Given the description of an element on the screen output the (x, y) to click on. 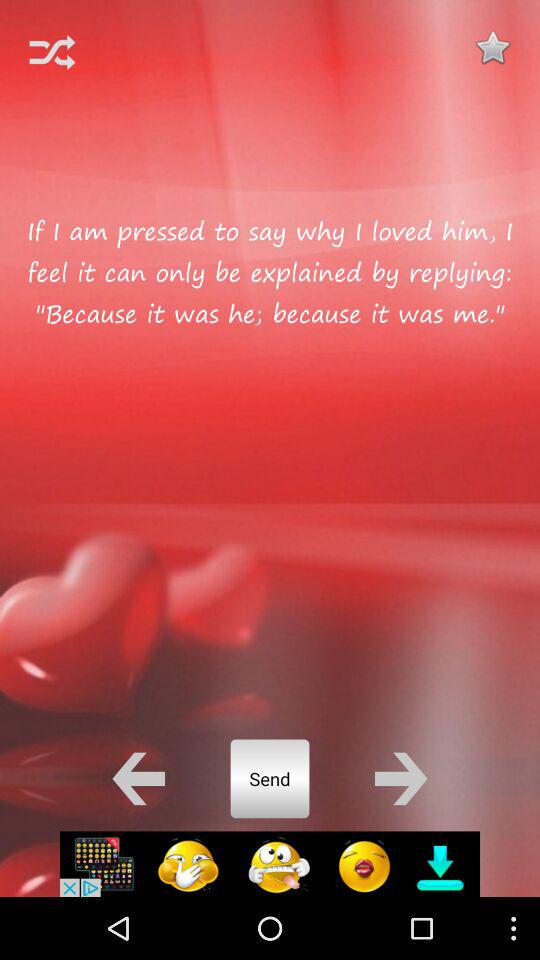
suffle in random order (52, 52)
